Given the description of an element on the screen output the (x, y) to click on. 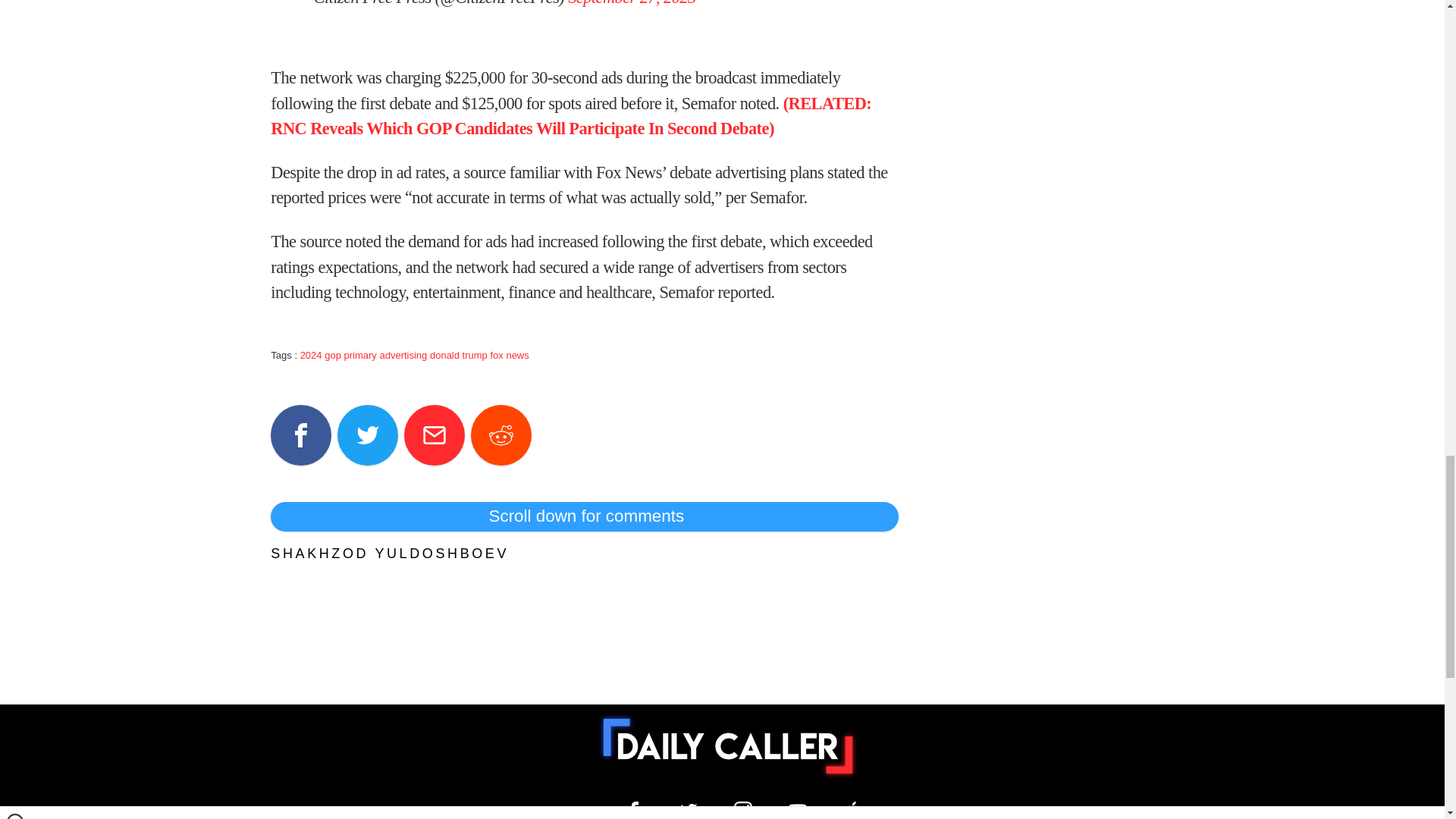
Daily Caller Facebook (633, 810)
To home page (727, 746)
Daily Caller YouTube (797, 810)
Scroll down for comments (584, 516)
Daily Caller YouTube (852, 810)
Daily Caller Twitter (688, 810)
Daily Caller Instagram (742, 810)
